Given the description of an element on the screen output the (x, y) to click on. 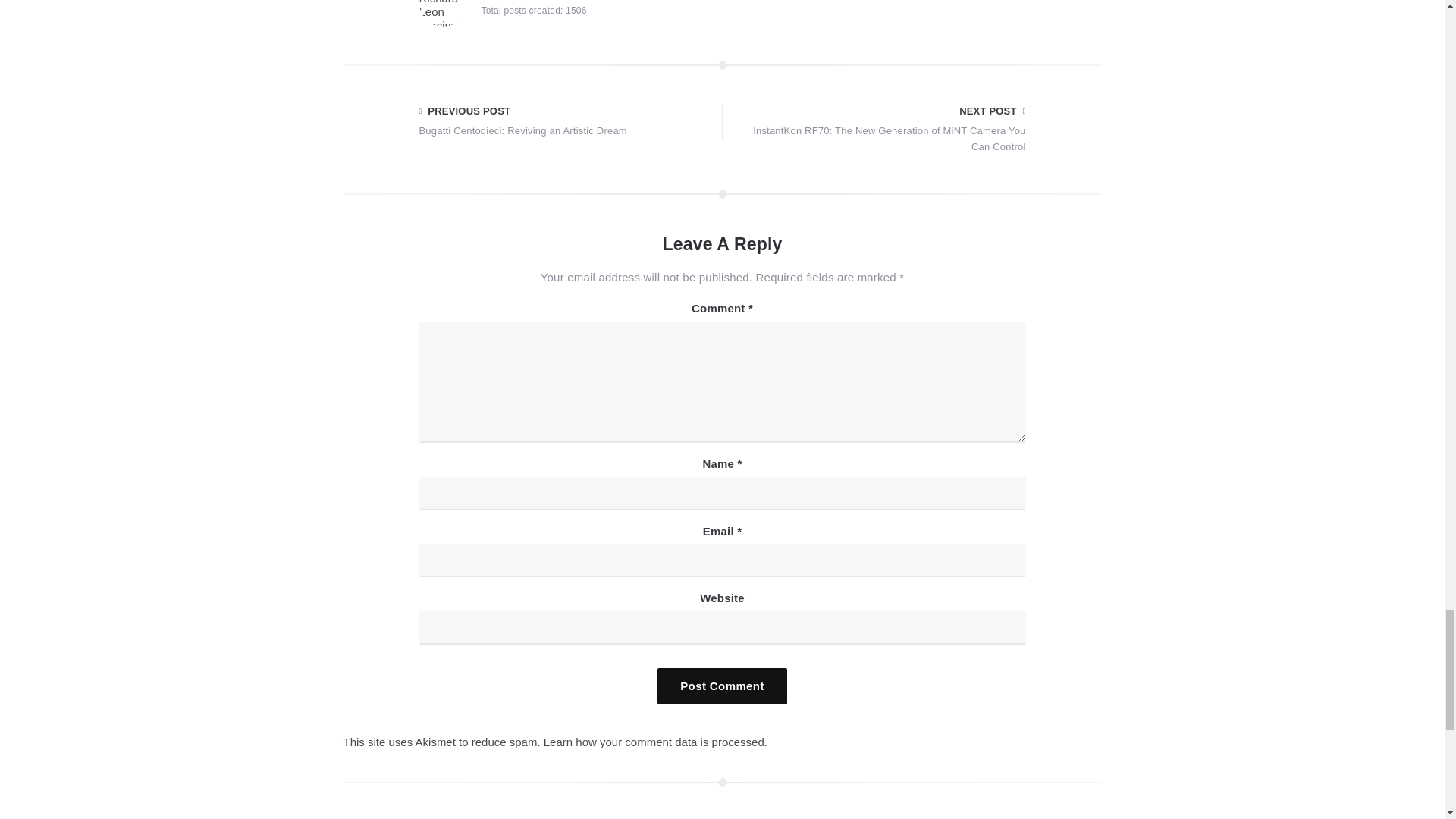
Richard Leon Percival (542, 1)
Post comment (722, 686)
Learn how your comment data is processed (653, 741)
Post comment (564, 121)
